Given the description of an element on the screen output the (x, y) to click on. 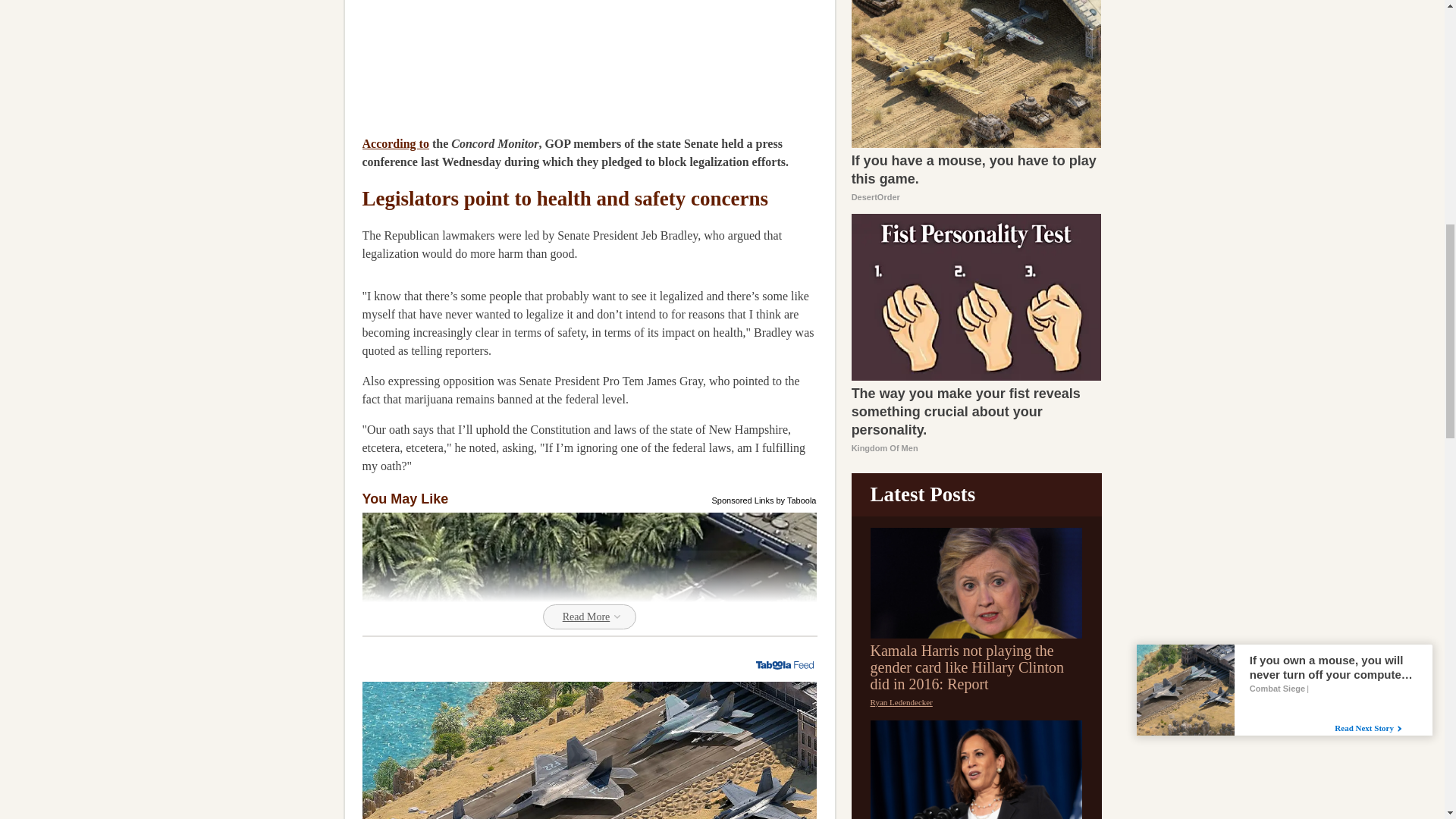
by Taboola (795, 498)
Sponsored Links (742, 498)
Advertisement (475, 58)
According to (395, 143)
